Given the description of an element on the screen output the (x, y) to click on. 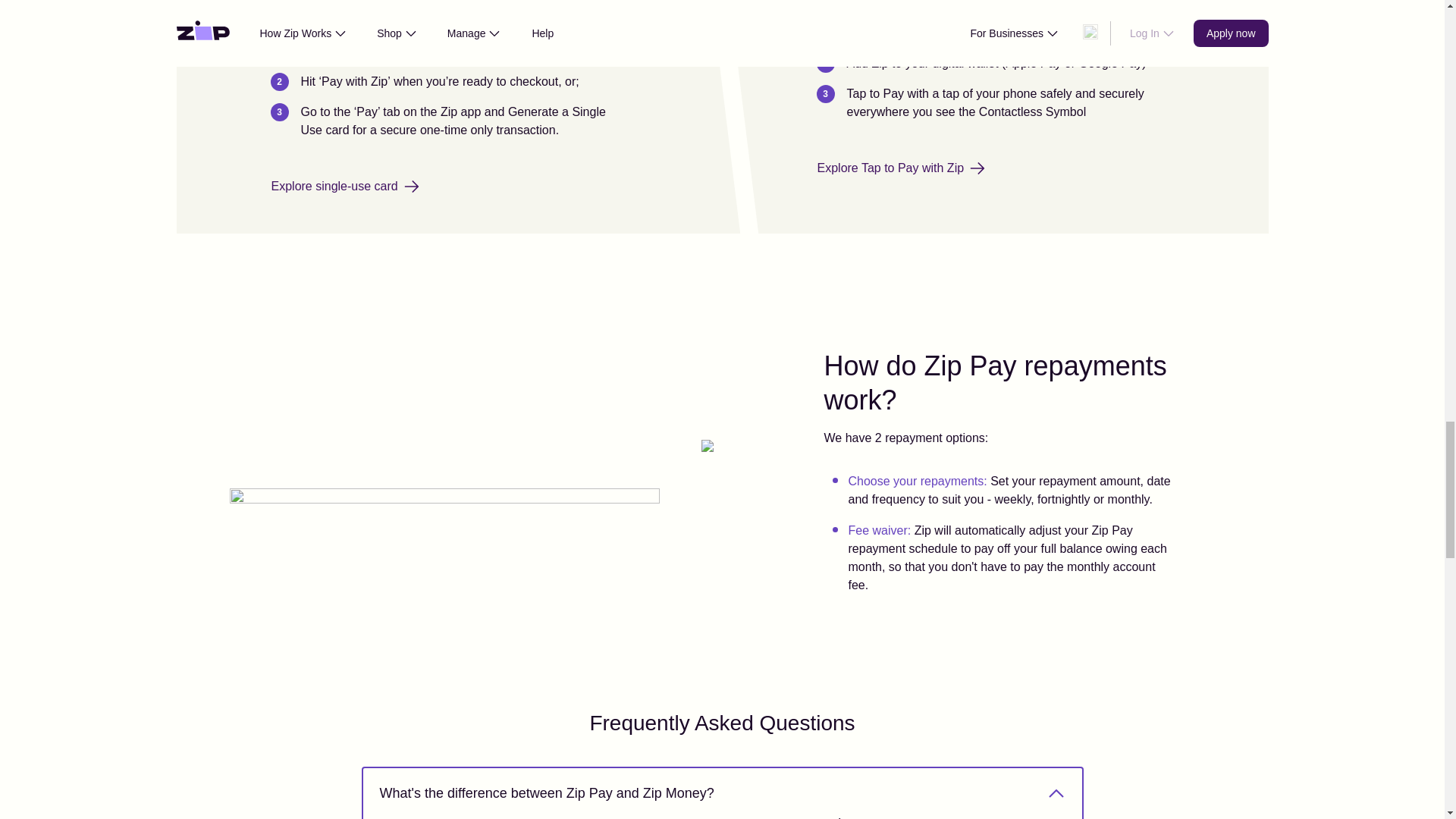
What's the difference between Zip Pay and Zip Money? (721, 793)
Explore Tap to Pay with Zip (900, 168)
Explore single-use card (343, 186)
